Given the description of an element on the screen output the (x, y) to click on. 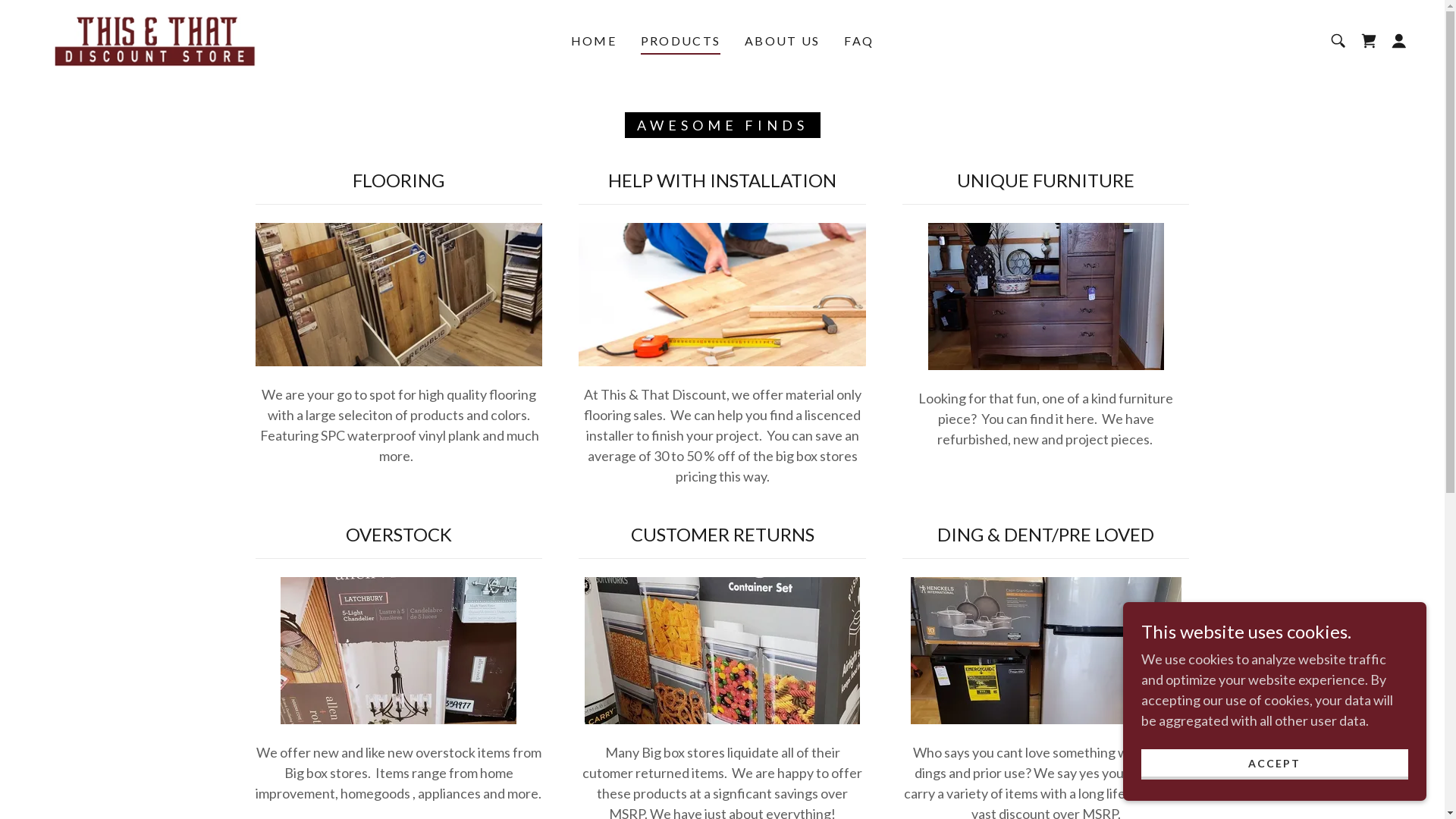
FAQ Element type: text (858, 40)
HOME Element type: text (593, 40)
This & That Discount Store Element type: hover (156, 38)
PRODUCTS Element type: text (680, 42)
ACCEPT Element type: text (1274, 764)
ABOUT US Element type: text (782, 40)
